Given the description of an element on the screen output the (x, y) to click on. 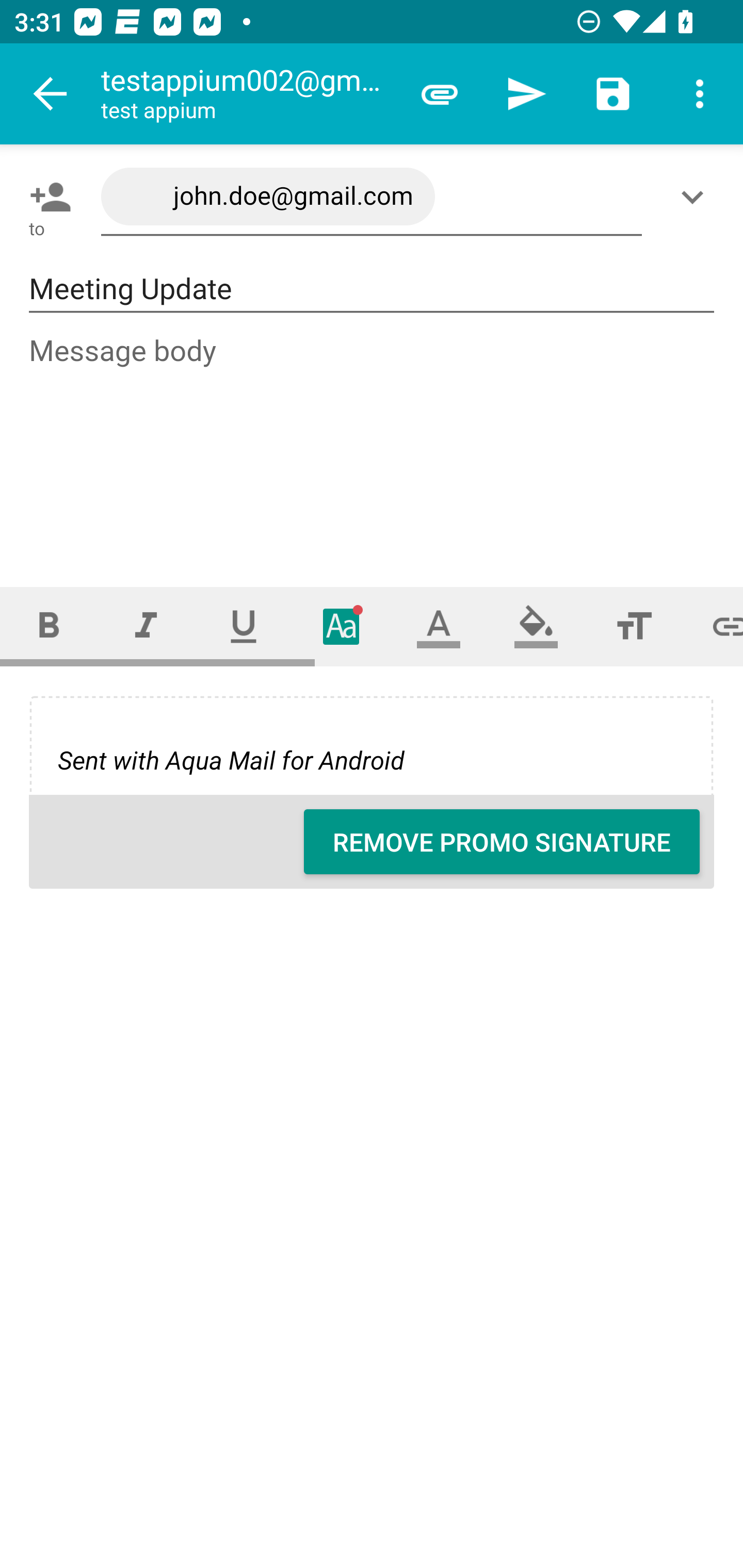
Navigate up (50, 93)
testappium002@gmail.com test appium (248, 93)
Attach (439, 93)
Send (525, 93)
Save (612, 93)
More options (699, 93)
john.doe@gmail.com,  (371, 197)
Pick contact: To (46, 196)
Show/Add CC/BCC (696, 196)
Meeting Update (371, 288)
Message body (372, 442)
Bold (48, 626)
Italic (145, 626)
Underline (243, 626)
Typeface (font) (341, 626)
Text color (438, 626)
Fill color (536, 626)
Font size (633, 626)
Set link (712, 626)
REMOVE PROMO SIGNATURE (501, 841)
